Given the description of an element on the screen output the (x, y) to click on. 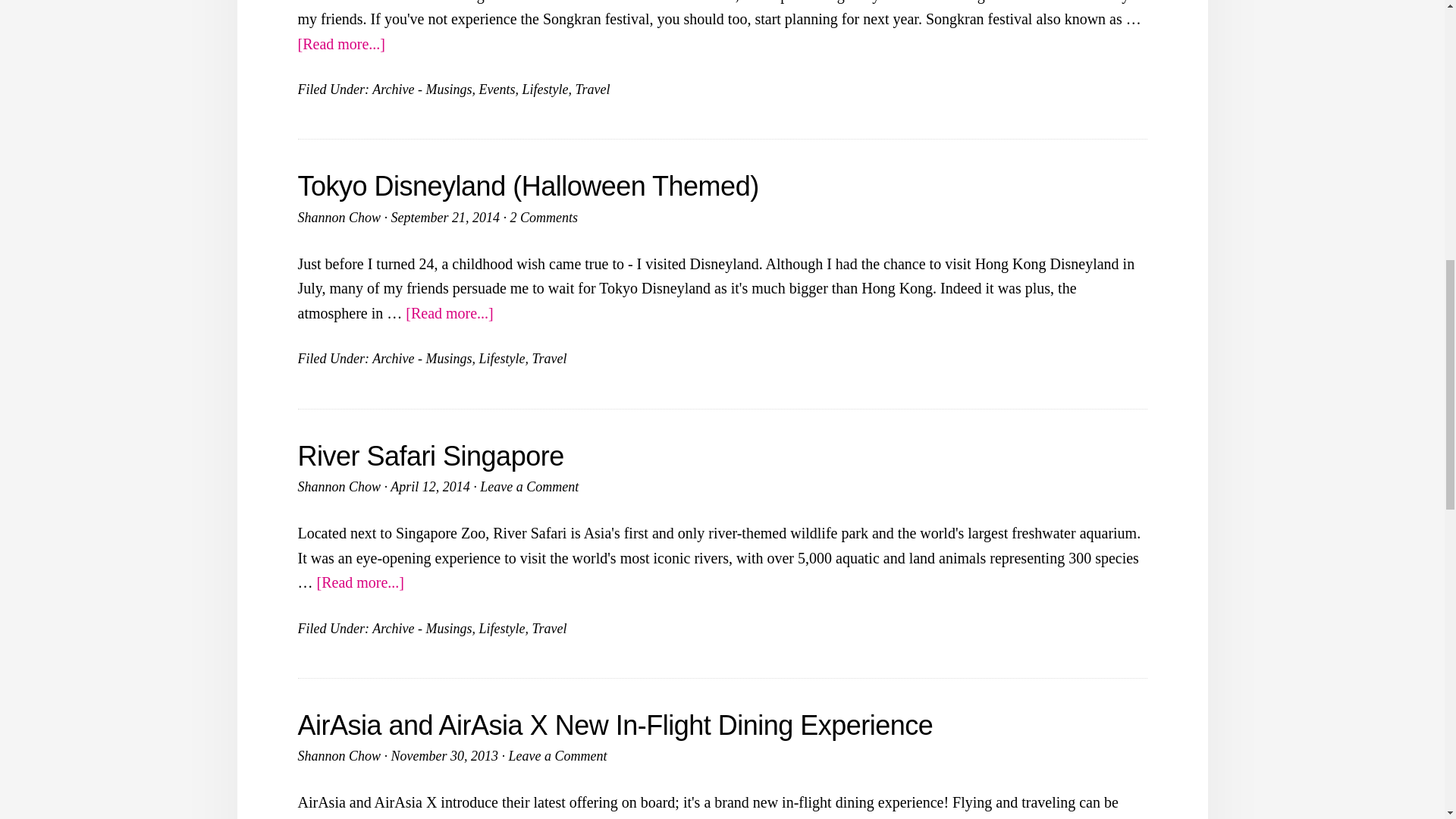
Leave a Comment (529, 486)
Shannon Chow (338, 486)
Archive - Musings (421, 89)
Events (497, 89)
Lifestyle (501, 628)
AirAsia and AirAsia X New In-Flight Dining Experience (615, 725)
Shannon Chow (338, 755)
Lifestyle (544, 89)
Lifestyle (501, 358)
Travel (548, 358)
Travel (592, 89)
Shannon Chow (338, 217)
Archive - Musings (421, 358)
Archive - Musings (421, 628)
Leave a Comment (557, 755)
